Given the description of an element on the screen output the (x, y) to click on. 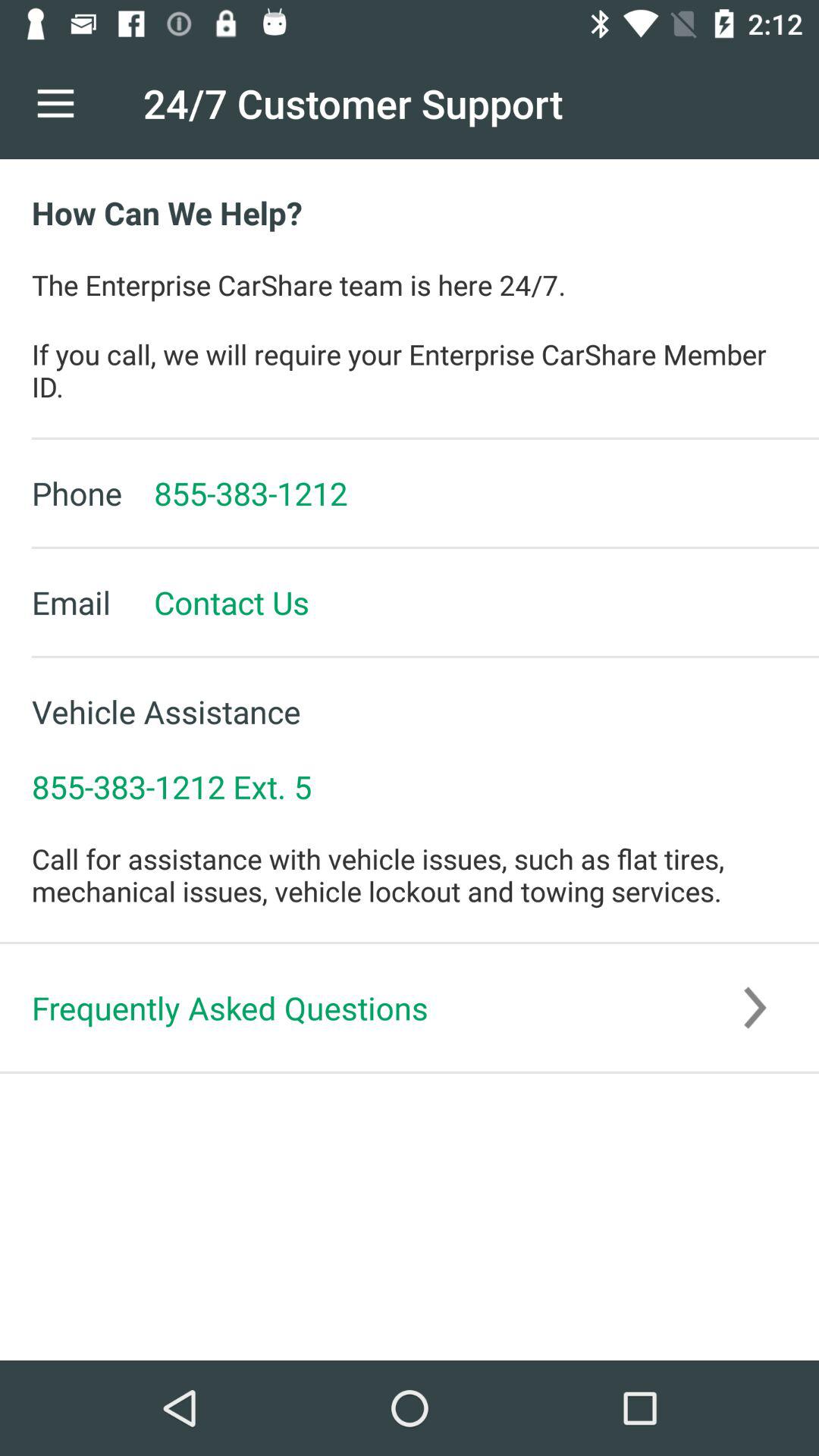
select item above how can we (55, 103)
